Given the description of an element on the screen output the (x, y) to click on. 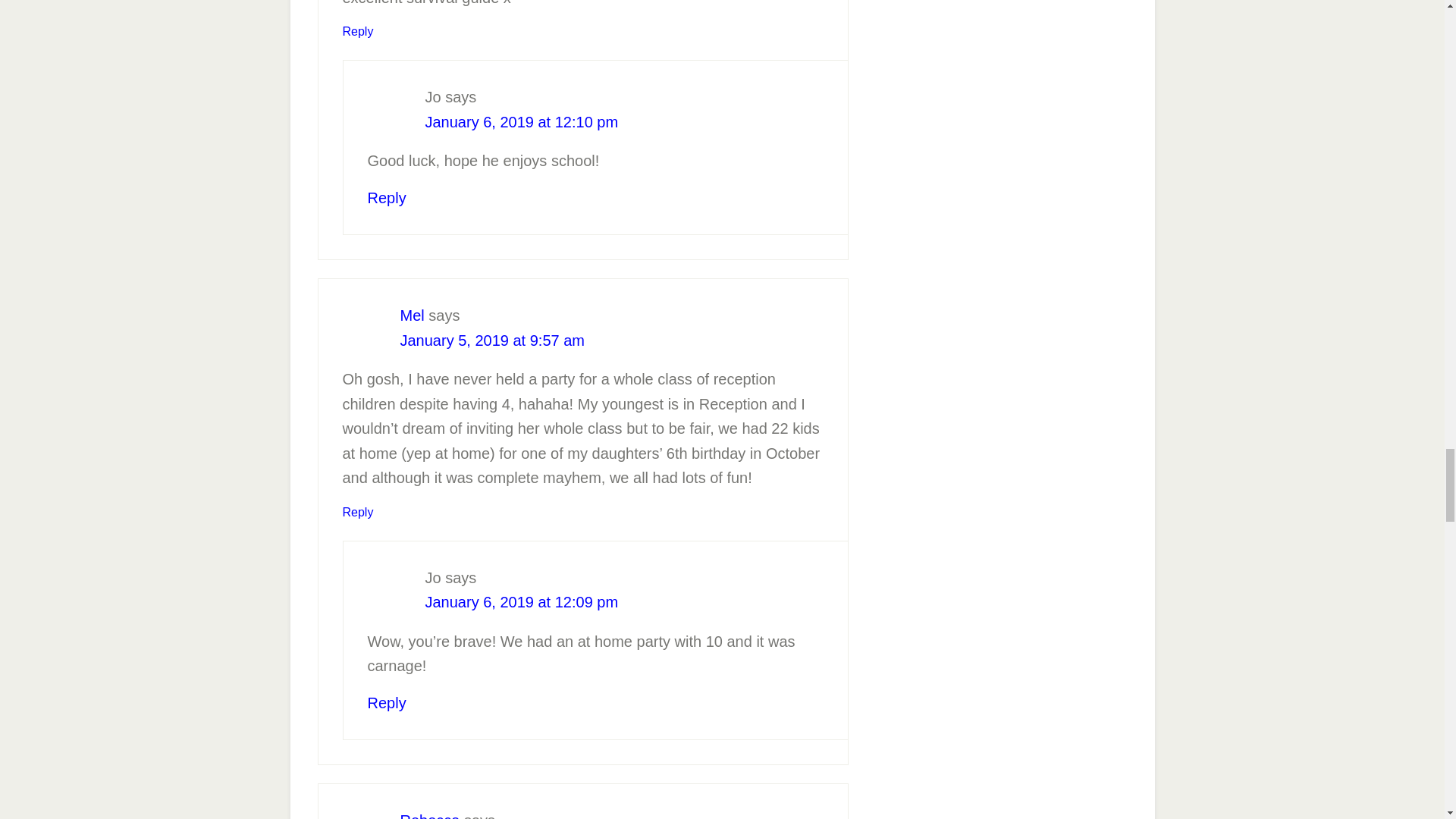
January 5, 2019 at 9:57 am (492, 340)
Reply (358, 31)
Reply (358, 512)
Reply (386, 702)
January 6, 2019 at 12:10 pm (521, 121)
Reply (386, 197)
January 6, 2019 at 12:09 pm (521, 601)
Rebecca (430, 815)
Mel (412, 315)
